Given the description of an element on the screen output the (x, y) to click on. 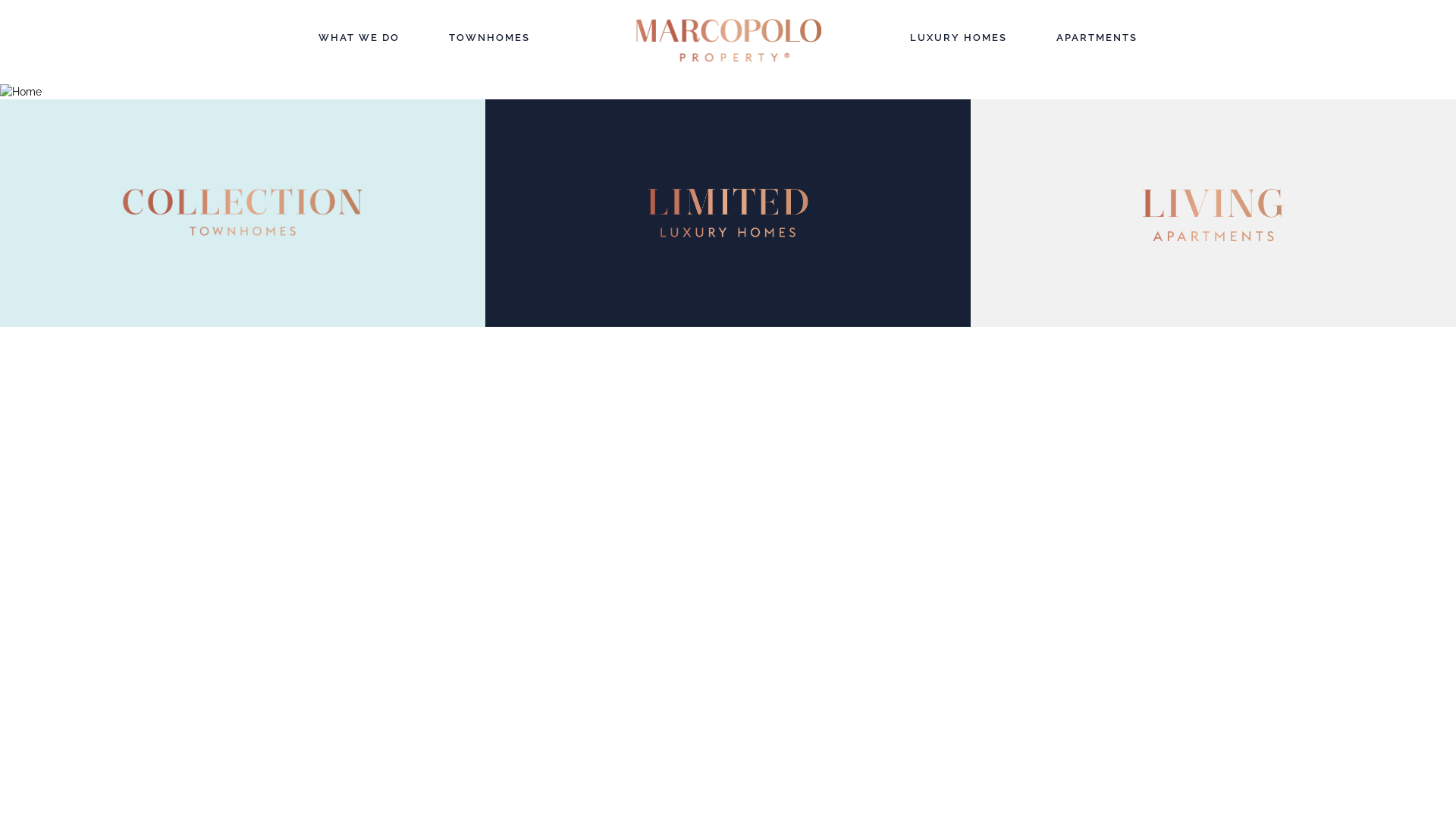
TOWNHOMES Element type: text (489, 38)
APARTMENTS Element type: text (1096, 38)
LUXURY HOMES Element type: text (958, 38)
WHAT WE DO Element type: text (358, 38)
